Given the description of an element on the screen output the (x, y) to click on. 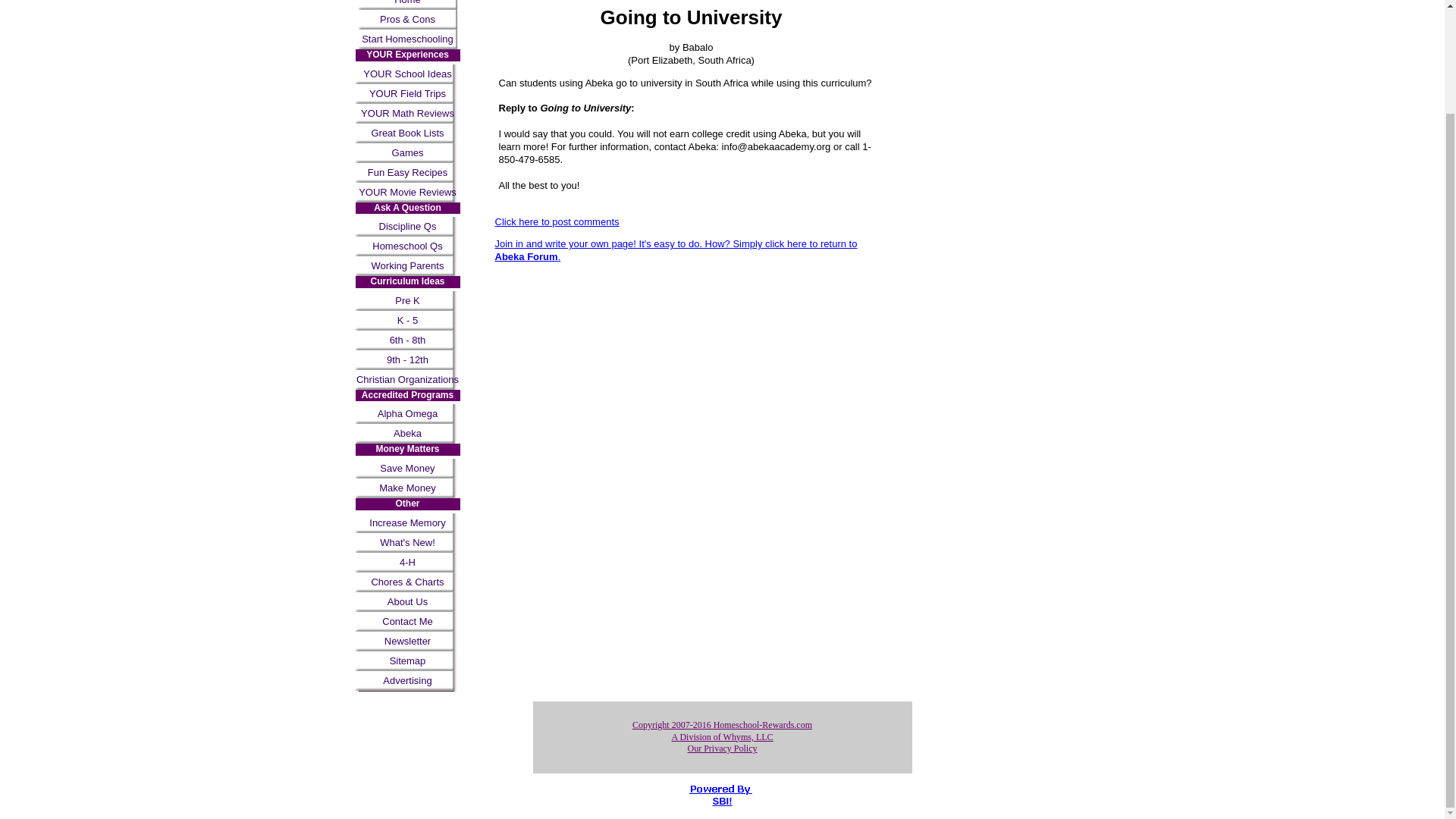
K - 5 (407, 320)
Contact Me (407, 621)
6th - 8th (407, 340)
Fun Easy Recipes (407, 172)
About Us (407, 601)
Click here to post comments (556, 221)
Christian Organizations (407, 379)
Save Money (407, 468)
Games (407, 152)
